Given the description of an element on the screen output the (x, y) to click on. 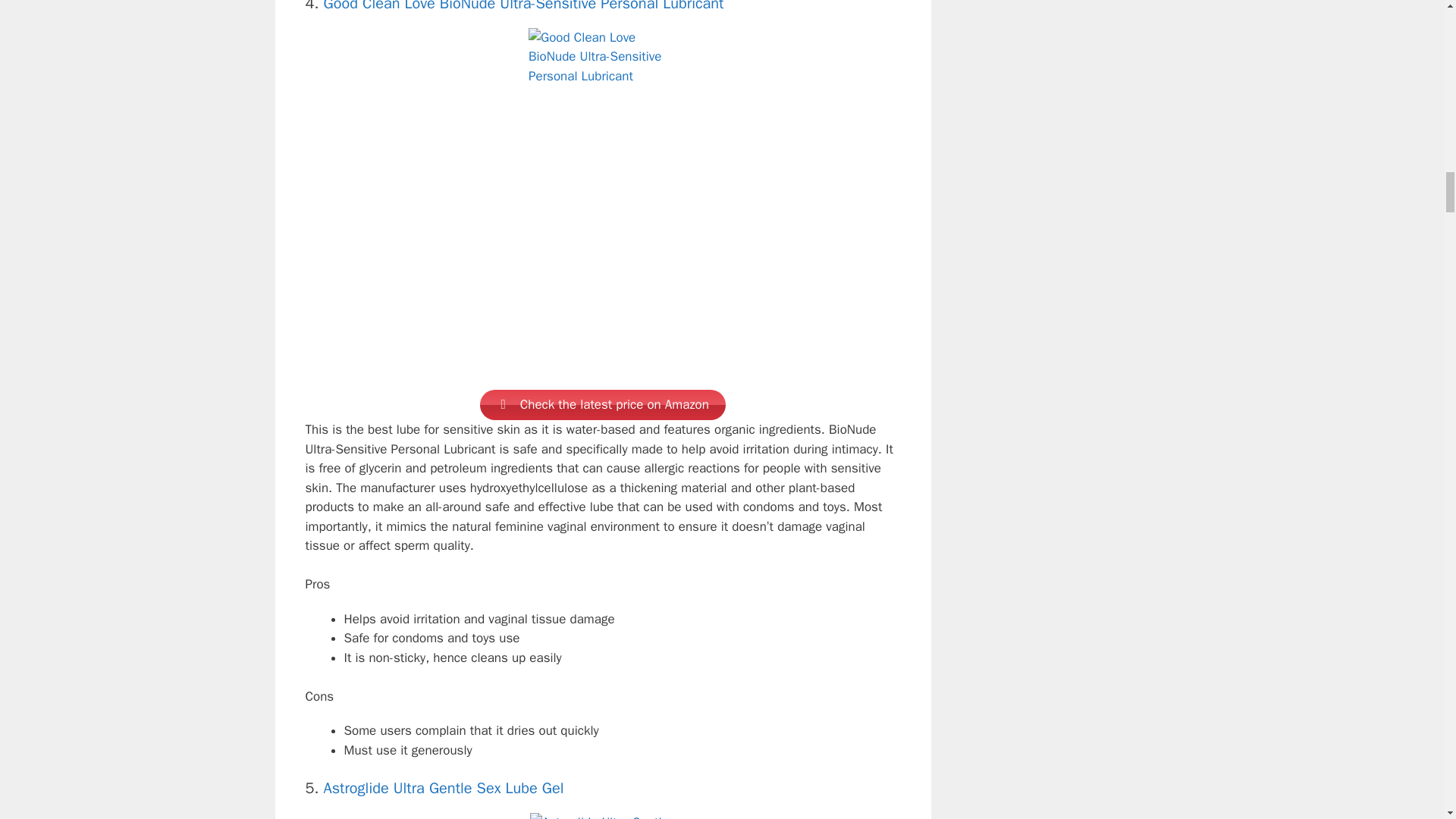
Astroglide Ultra Gentle Sex Lube Gel (443, 787)
Check the latest price on Amazon (602, 404)
Good Clean Love BioNude Ultra-Sensitive Personal Lubricant (523, 6)
